Given the description of an element on the screen output the (x, y) to click on. 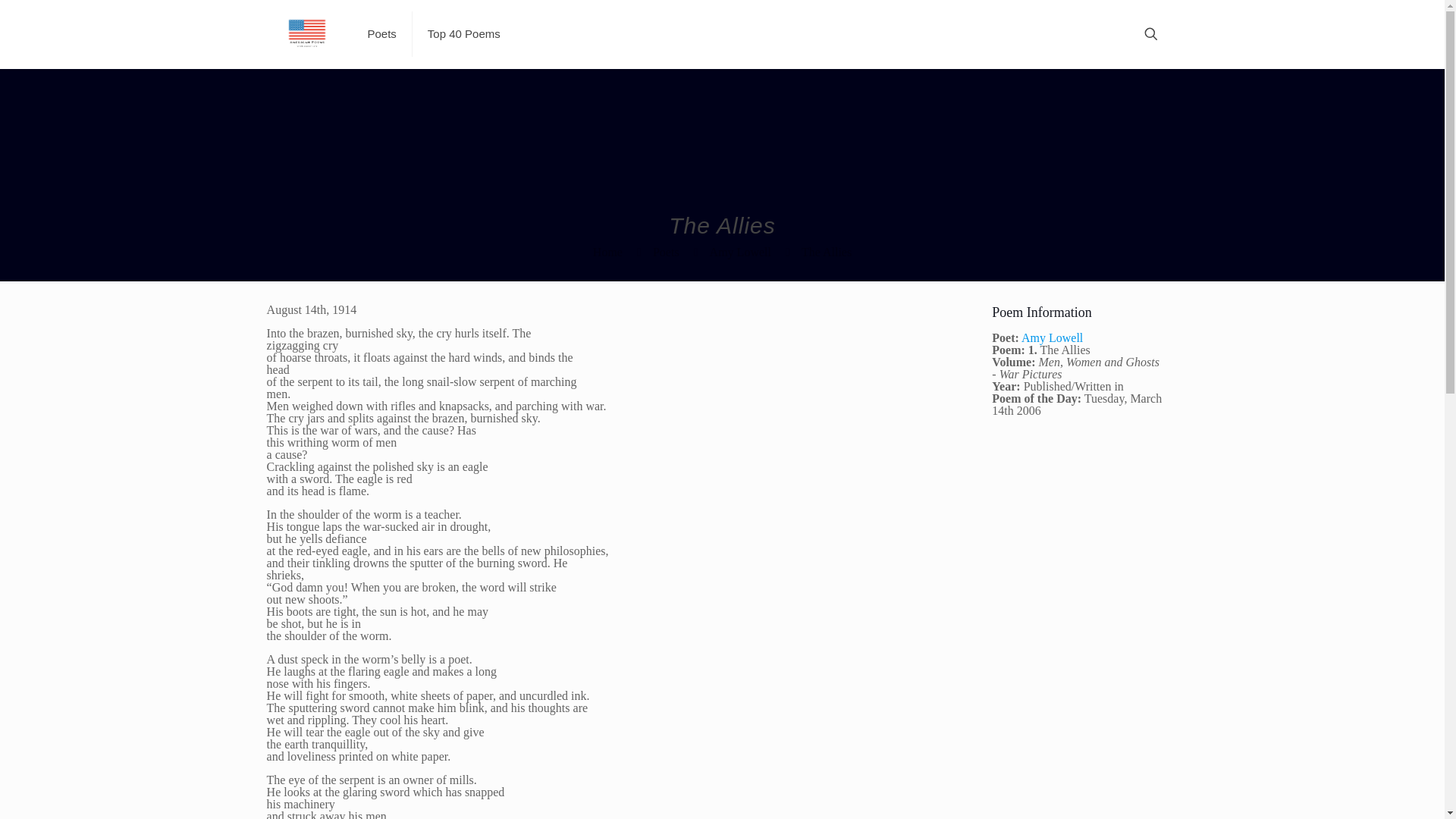
The Allies (826, 251)
Amy Lowell (1052, 337)
Poets (665, 251)
Top 40 Poems (463, 33)
Home (607, 251)
Amy Lowell (740, 251)
